Given the description of an element on the screen output the (x, y) to click on. 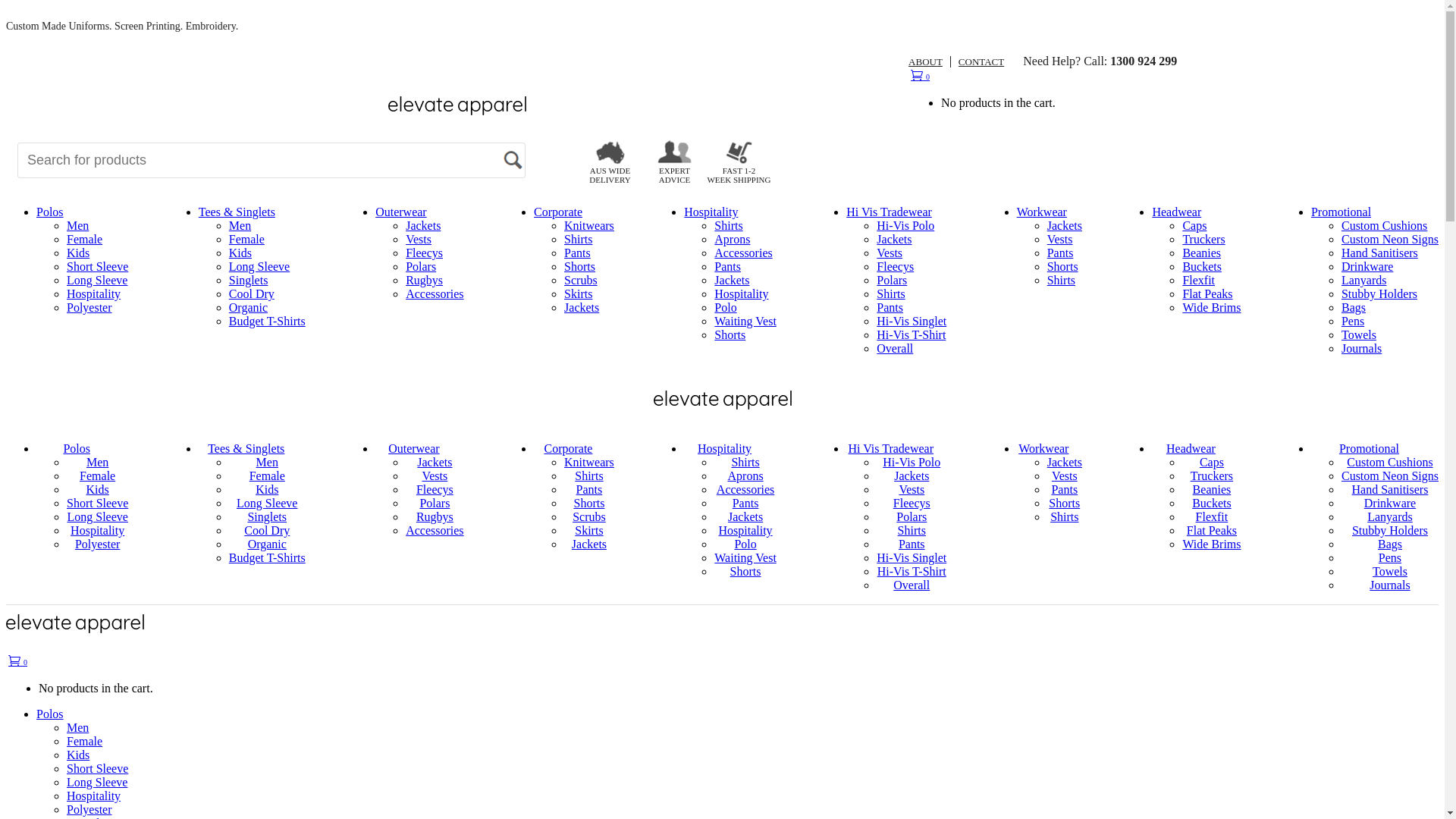
Female Element type: text (84, 740)
Towels Element type: text (1389, 570)
Tees & Singlets Element type: text (236, 211)
Custom Neon Signs Element type: text (1389, 475)
Kids Element type: text (266, 489)
Pens Element type: text (1352, 320)
Custom Cushions Element type: text (1389, 461)
Hi-Vis Polo Element type: text (911, 461)
Shirts Element type: text (1061, 279)
Jackets Element type: text (911, 475)
Vests Element type: text (1060, 238)
Pants Element type: text (727, 266)
Tees & Singlets Element type: text (251, 448)
Men Element type: text (97, 461)
Vests Element type: text (911, 489)
Jackets Element type: text (434, 461)
Journals Element type: text (1361, 348)
Shirts Element type: text (588, 475)
Flexfit Element type: text (1211, 516)
0 Element type: text (17, 660)
Long Sleeve Element type: text (96, 781)
Pants Element type: text (911, 543)
Beanies Element type: text (1211, 489)
Men Element type: text (77, 727)
Overall Element type: text (911, 584)
Female Element type: text (267, 475)
Shirts Element type: text (578, 238)
Polos Element type: text (49, 211)
Wide Brims Element type: text (1211, 543)
Bags Element type: text (1389, 543)
Accessories Element type: text (434, 530)
Truckers Element type: text (1203, 238)
Hospitality Element type: text (745, 530)
Polo Element type: text (745, 543)
Hospitality Element type: text (729, 448)
Caps Element type: text (1211, 461)
Hi-Vis Singlet Element type: text (911, 557)
Skirts Element type: text (588, 530)
Buckets Element type: text (1201, 266)
Cool Dry Element type: text (266, 530)
Jackets Element type: text (581, 307)
Fleecys Element type: text (894, 266)
Polyester Element type: text (97, 543)
Organic Element type: text (266, 543)
Scrubs Element type: text (580, 279)
Organic Element type: text (248, 307)
Pants Element type: text (1060, 252)
Hand Sanitisers Element type: text (1390, 489)
Rugbys Element type: text (423, 279)
Polars Element type: text (434, 502)
Fleecys Element type: text (434, 489)
Bags Element type: text (1353, 307)
Pants Element type: text (1064, 489)
ABOUT Element type: text (929, 61)
Jackets Element type: text (893, 238)
Kids Element type: text (77, 252)
Aprons Element type: text (731, 238)
Headwear Element type: text (1176, 211)
Female Element type: text (246, 238)
Jackets Element type: text (745, 516)
Waiting Vest Element type: text (745, 320)
Kids Element type: text (240, 252)
Custom Cushions Element type: text (1384, 225)
Polyester Element type: text (89, 809)
Shorts Element type: text (588, 502)
Shirts Element type: text (911, 530)
Lanyards Element type: text (1389, 516)
Accessories Element type: text (742, 252)
Shorts Element type: text (729, 334)
Drinkware Element type: text (1389, 502)
Drinkware Element type: text (1367, 266)
Hi Vis Tradewear Element type: text (895, 448)
Workwear Element type: text (1048, 448)
Stubby Holders Element type: text (1389, 530)
Pants Element type: text (889, 307)
Knitwears Element type: text (589, 225)
Fleecys Element type: text (911, 502)
Hi Vis Tradewear Element type: text (888, 211)
Pants Element type: text (745, 502)
Shirts Element type: text (745, 461)
Rugbys Element type: text (434, 516)
Wide Brims Element type: text (1211, 307)
Waiting Vest Element type: text (745, 557)
Men Element type: text (267, 461)
Budget T-Shirts Element type: text (267, 320)
Jackets Element type: text (731, 279)
Beanies Element type: text (1201, 252)
Shorts Element type: text (579, 266)
Shirts Element type: text (890, 293)
Kids Element type: text (77, 754)
Accessories Element type: text (434, 293)
Knitwears Element type: text (589, 461)
Promotional Element type: text (1341, 211)
Kids Element type: text (97, 489)
Search Element type: hover (511, 159)
Singlets Element type: text (248, 279)
Truckers Element type: text (1211, 475)
Lanyards Element type: text (1363, 279)
Polars Element type: text (911, 516)
Polos Element type: text (49, 713)
Corporate Element type: text (557, 211)
Men Element type: text (240, 225)
Shorts Element type: text (1062, 266)
Promotional Element type: text (1374, 448)
Pants Element type: text (589, 489)
Search Element type: text (511, 159)
Polars Element type: text (891, 279)
Pens Element type: text (1389, 557)
Outerwear Element type: text (400, 211)
Shorts Element type: text (1063, 502)
Hospitality Element type: text (93, 795)
CONTACT Element type: text (977, 61)
Vests Element type: text (1064, 475)
Skirts Element type: text (578, 293)
Jackets Element type: text (1064, 461)
Jackets Element type: text (588, 543)
Cool Dry Element type: text (251, 293)
Men Element type: text (77, 225)
Fleecys Element type: text (423, 252)
Buckets Element type: text (1211, 502)
Stubby Holders Element type: text (1379, 293)
Accessories Element type: text (745, 489)
Hi-Vis T-Shirt Element type: text (910, 334)
Outerwear Element type: text (419, 448)
Long Sleeve Element type: text (266, 502)
Polars Element type: text (420, 266)
Long Sleeve Element type: text (259, 266)
Polyester Element type: text (89, 307)
Vests Element type: text (418, 238)
Hi-Vis Polo Element type: text (905, 225)
Aprons Element type: text (745, 475)
Polo Element type: text (725, 307)
Headwear Element type: text (1196, 448)
Jackets Element type: text (1064, 225)
Hospitality Element type: text (93, 293)
Corporate Element type: text (573, 448)
Vests Element type: text (434, 475)
Pants Element type: text (577, 252)
Scrubs Element type: text (588, 516)
Journals Element type: text (1389, 584)
Budget T-Shirts Element type: text (267, 557)
Flat Peaks Element type: text (1211, 530)
Overall Element type: text (894, 348)
Hospitality Element type: text (97, 530)
Polos Element type: text (81, 448)
Singlets Element type: text (266, 516)
Short Sleeve Element type: text (97, 502)
Long Sleeve Element type: text (96, 516)
Custom Neon Signs Element type: text (1389, 238)
Short Sleeve Element type: text (97, 768)
Hospitality Element type: text (710, 211)
Caps Element type: text (1194, 225)
Shirts Element type: text (728, 225)
Hospitality Element type: text (741, 293)
Workwear Element type: text (1041, 211)
Flexfit Element type: text (1198, 279)
Female Element type: text (84, 238)
0 Element type: text (919, 75)
Hand Sanitisers Element type: text (1379, 252)
Hi-Vis T-Shirt Element type: text (911, 570)
Long Sleeve Element type: text (96, 279)
Flat Peaks Element type: text (1207, 293)
Short Sleeve Element type: text (97, 266)
Hi-Vis Singlet Element type: text (911, 320)
Towels Element type: text (1358, 334)
Jackets Element type: text (422, 225)
Vests Element type: text (889, 252)
Female Element type: text (97, 475)
Shirts Element type: text (1064, 516)
Shorts Element type: text (745, 570)
